Given the description of an element on the screen output the (x, y) to click on. 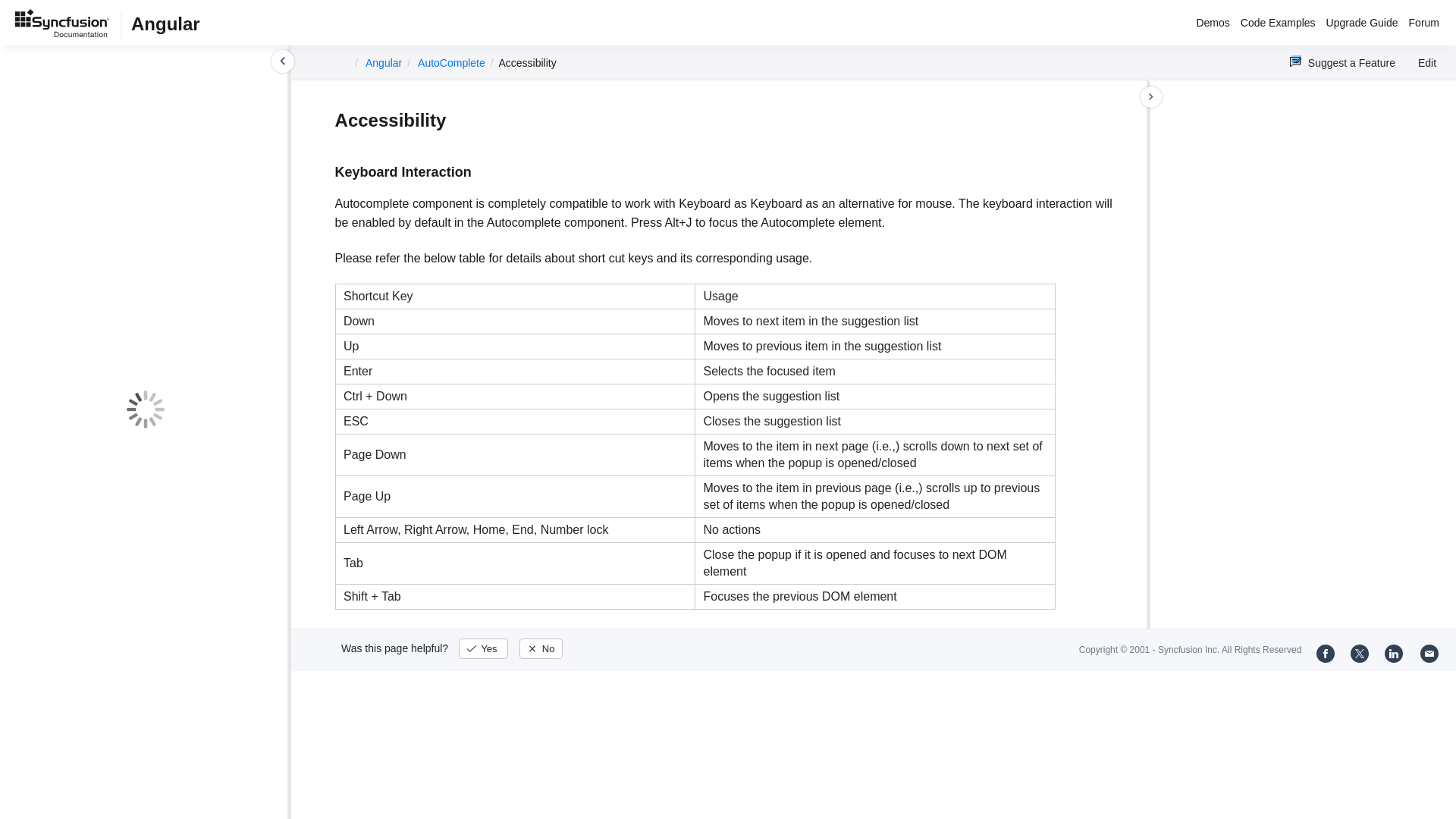
Demos (1212, 24)
Forum (1423, 24)
Edit (1419, 62)
Upgrade Guide (1361, 24)
Suggest a Feature (1342, 62)
Edit (1419, 62)
AutoComplete (450, 62)
Angular (383, 62)
Suggest a Feature (1342, 62)
Code Examples (1277, 24)
